Given the description of an element on the screen output the (x, y) to click on. 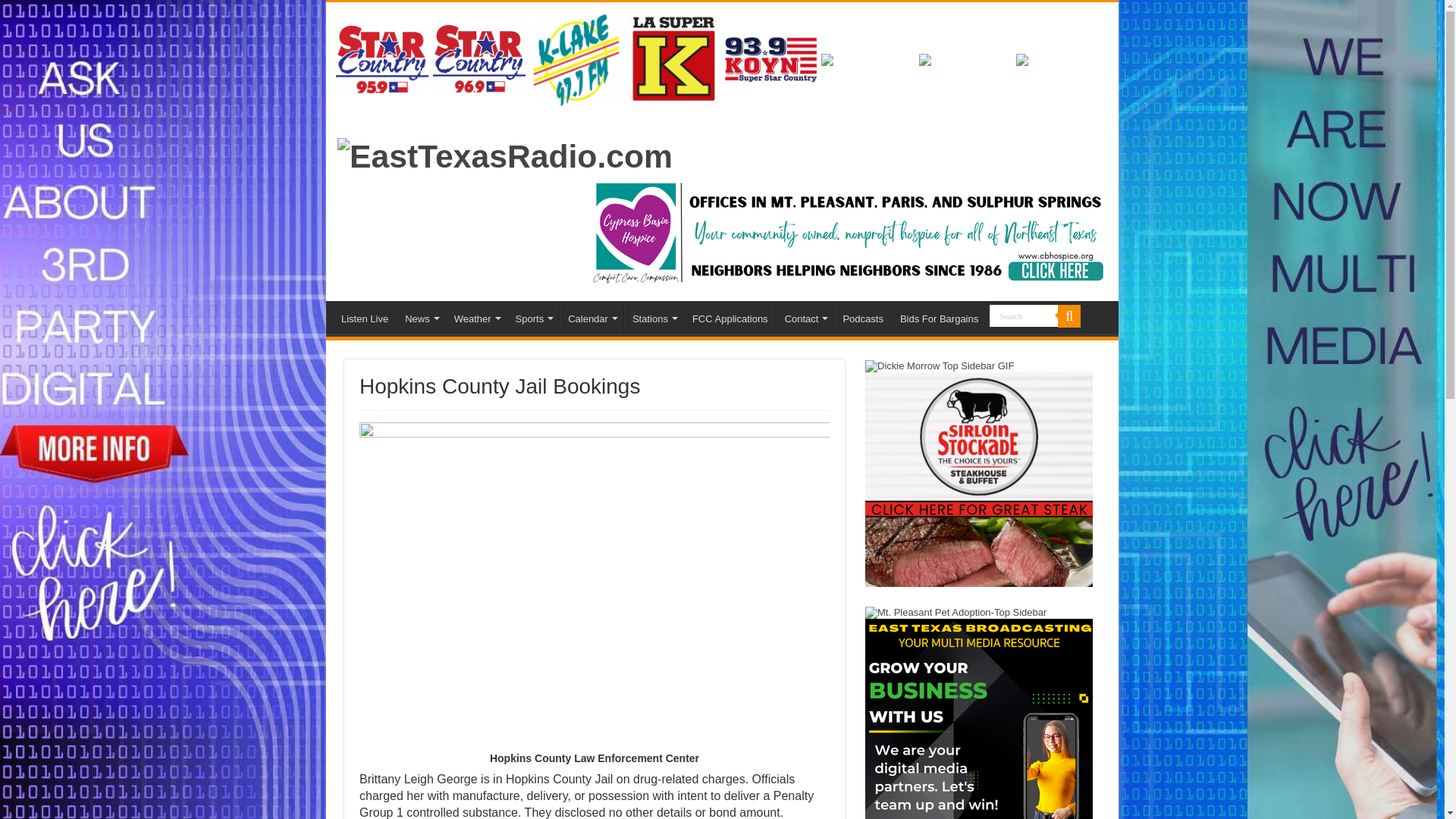
News (420, 316)
Weather (475, 316)
Search (1024, 315)
Listen Live (364, 316)
EastTexasRadio.com (504, 153)
Search (1024, 315)
Search (1024, 315)
